Given the description of an element on the screen output the (x, y) to click on. 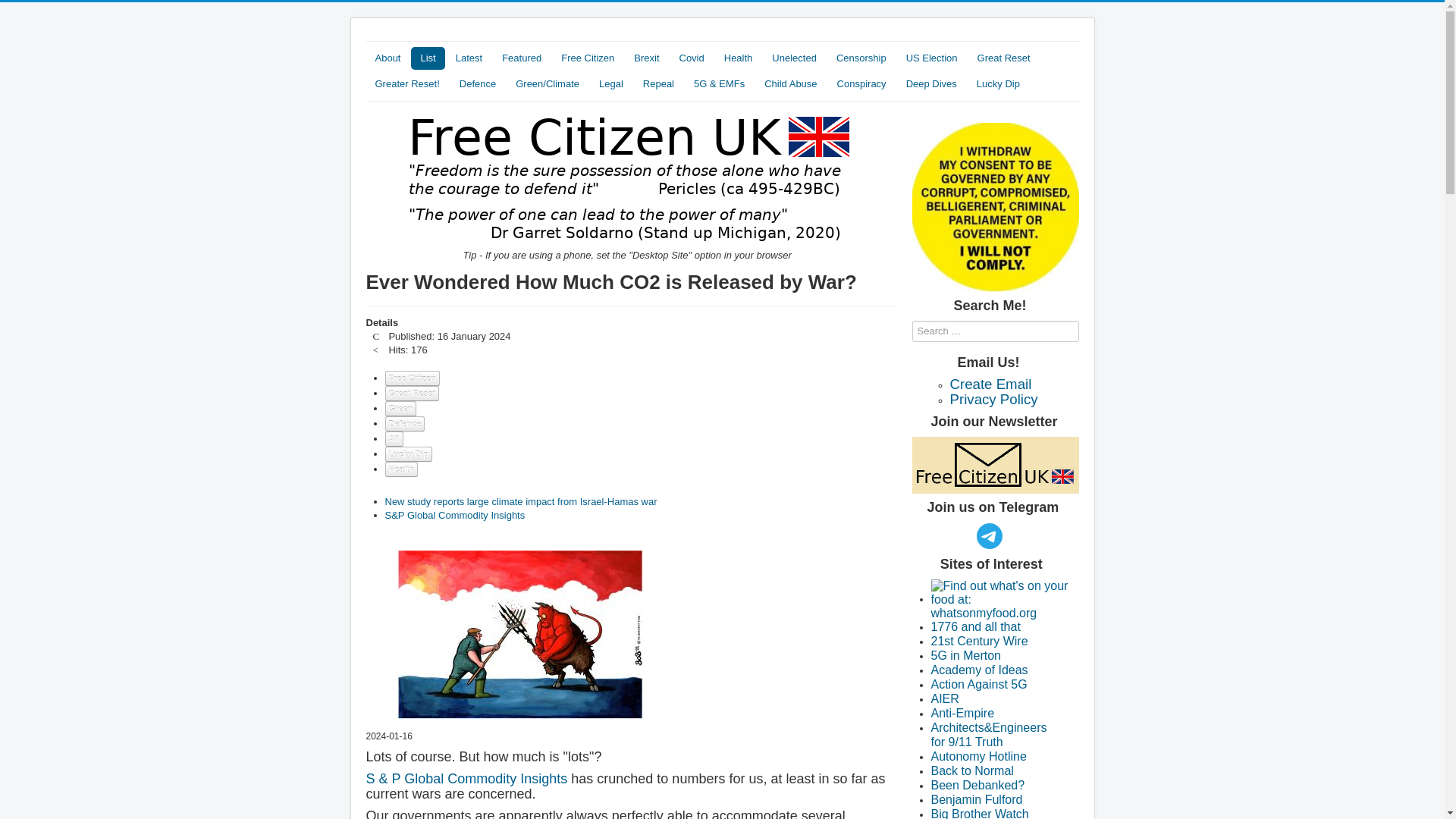
Latest (469, 57)
Free Citizen (587, 57)
Health (737, 57)
List (427, 57)
Repeal (657, 83)
Covid (691, 57)
US Election (931, 57)
Legal (610, 83)
Defence (477, 83)
Greater Reset! (406, 83)
Brexit (646, 57)
Censorship (861, 57)
About (387, 57)
Featured (521, 57)
Unelected (793, 57)
